Given the description of an element on the screen output the (x, y) to click on. 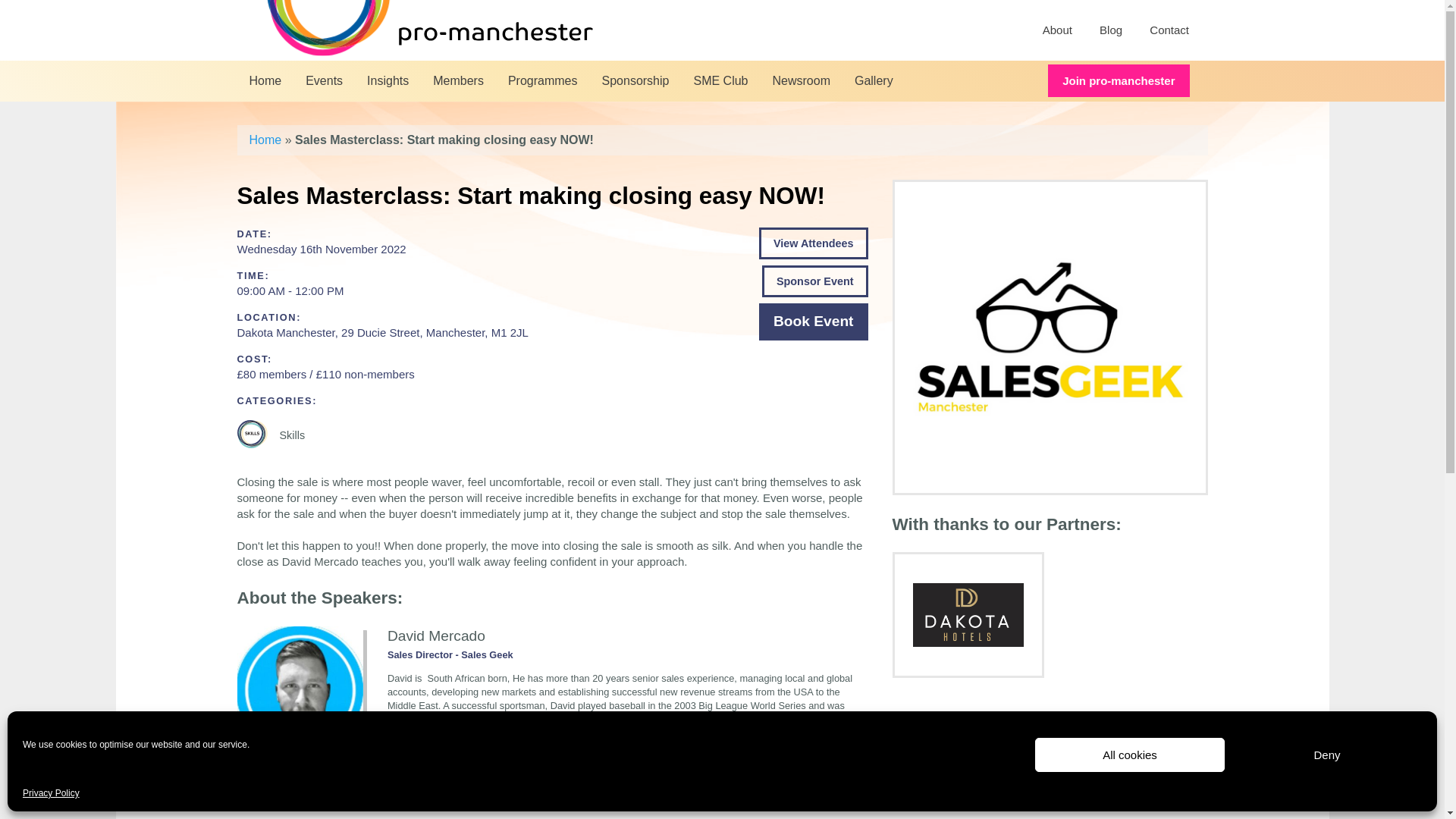
Insights (387, 80)
SME Club (720, 80)
Join pro-manchester (1118, 80)
Home (264, 139)
Contact (1169, 30)
Book Event (812, 321)
Events (324, 80)
View Attendees (812, 243)
Deny (1326, 754)
Gallery (874, 80)
Home (264, 80)
Sponsorship (635, 80)
All cookies (1129, 754)
Sponsor Event (814, 281)
Privacy Policy (51, 793)
